Given the description of an element on the screen output the (x, y) to click on. 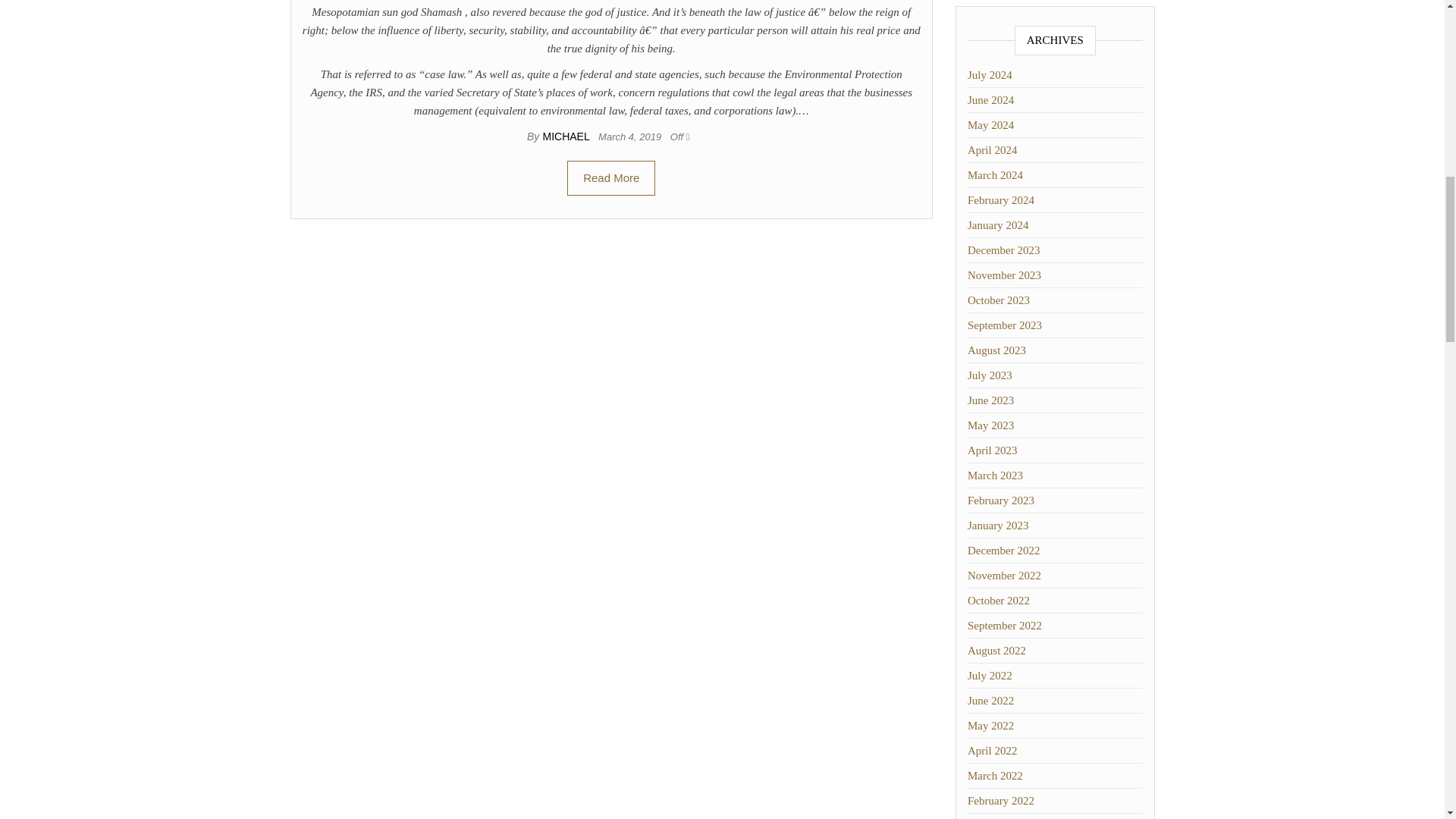
December 2022 (1003, 550)
May 2024 (990, 124)
December 2023 (1003, 250)
July 2023 (989, 375)
MICHAEL (566, 136)
Read More (611, 177)
January 2023 (997, 525)
October 2023 (998, 300)
October 2022 (998, 600)
April 2024 (992, 150)
August 2023 (997, 349)
June 2023 (990, 399)
May 2023 (990, 425)
February 2024 (1000, 200)
June 2024 (990, 100)
